Given the description of an element on the screen output the (x, y) to click on. 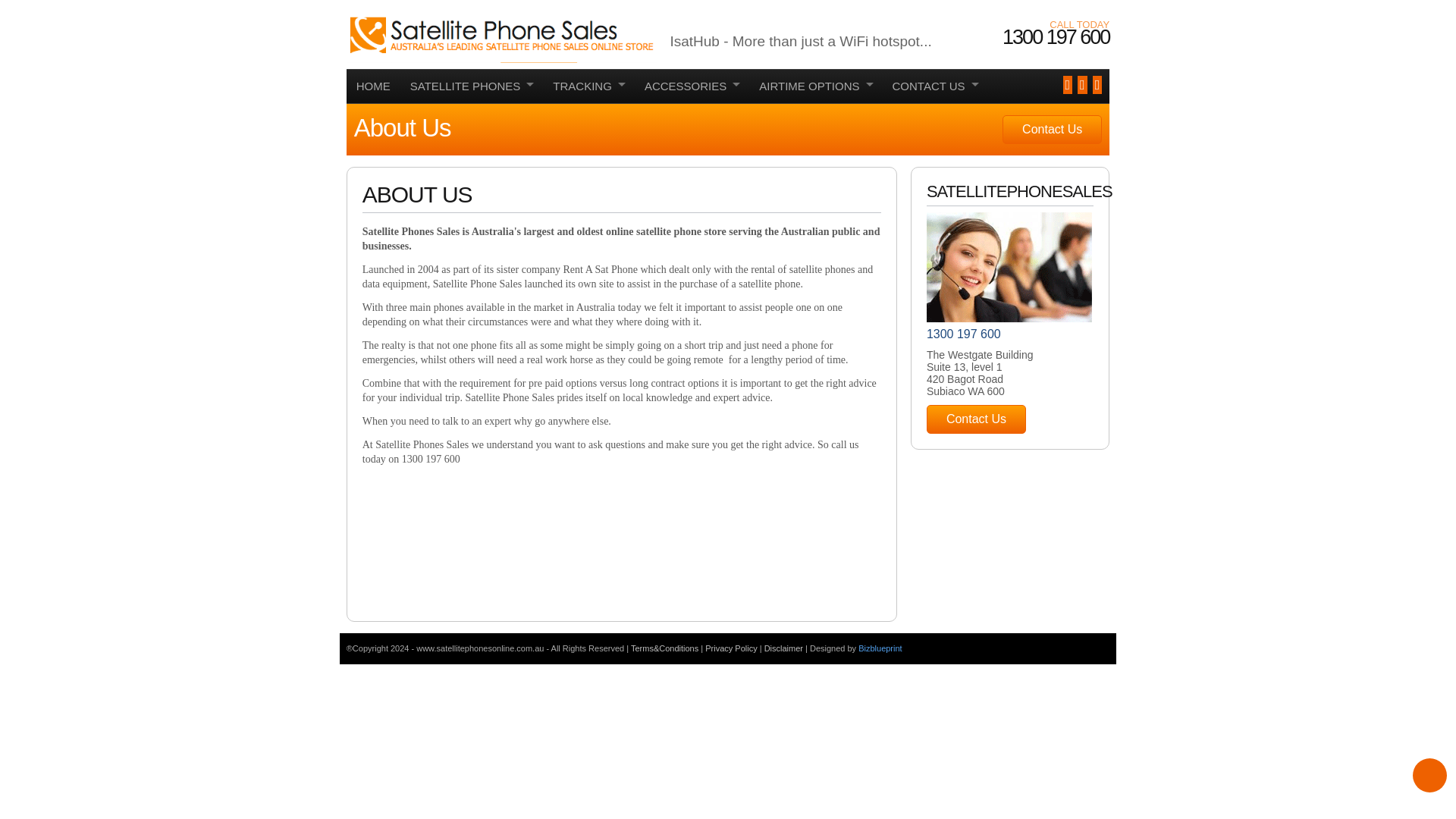
Isatphone 2 (471, 119)
Contact Us (1052, 129)
Rent A Satellite Phone (471, 253)
Privacy Policy (732, 647)
Inmarsat SMS (815, 219)
Iridium 9555 (471, 186)
Contact Us (976, 419)
Location (935, 119)
AIRTIME OPTIONS (815, 86)
About Us (934, 152)
